Given the description of an element on the screen output the (x, y) to click on. 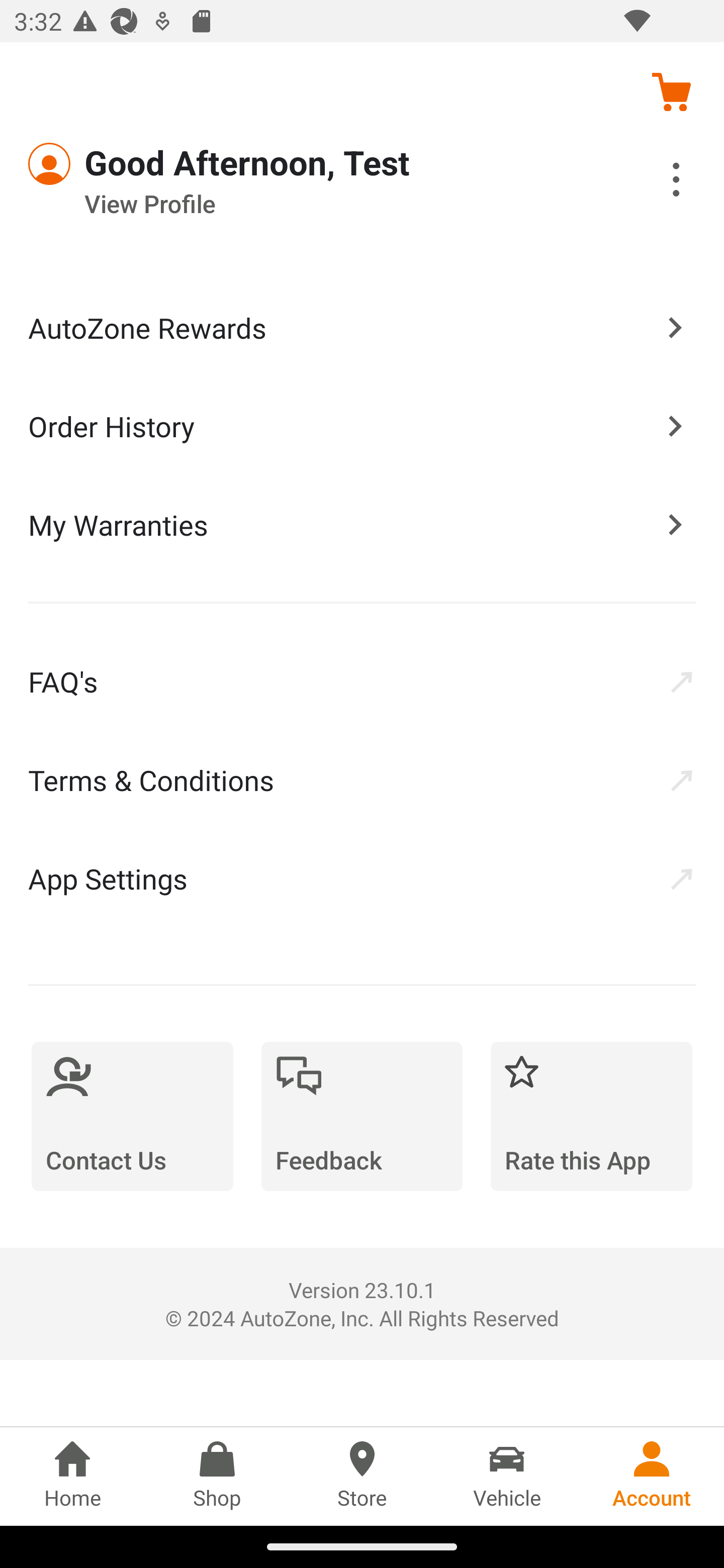
Cart, no items  (670, 91)
Good  (100, 163)
︙ (654, 182)
View Profile (306, 203)
AutoZone Rewards  (361, 327)
Order History  (361, 425)
My Warranties  (361, 524)
FAQ's  (361, 680)
Terms & Conditions  (361, 779)
App Settings  (361, 878)
Contact Us (132, 1116)
Feedback (361, 1116)
Rate this App (591, 1116)
Home (72, 1475)
Shop (216, 1475)
Store (361, 1475)
Vehicle (506, 1475)
Account (651, 1475)
